Given the description of an element on the screen output the (x, y) to click on. 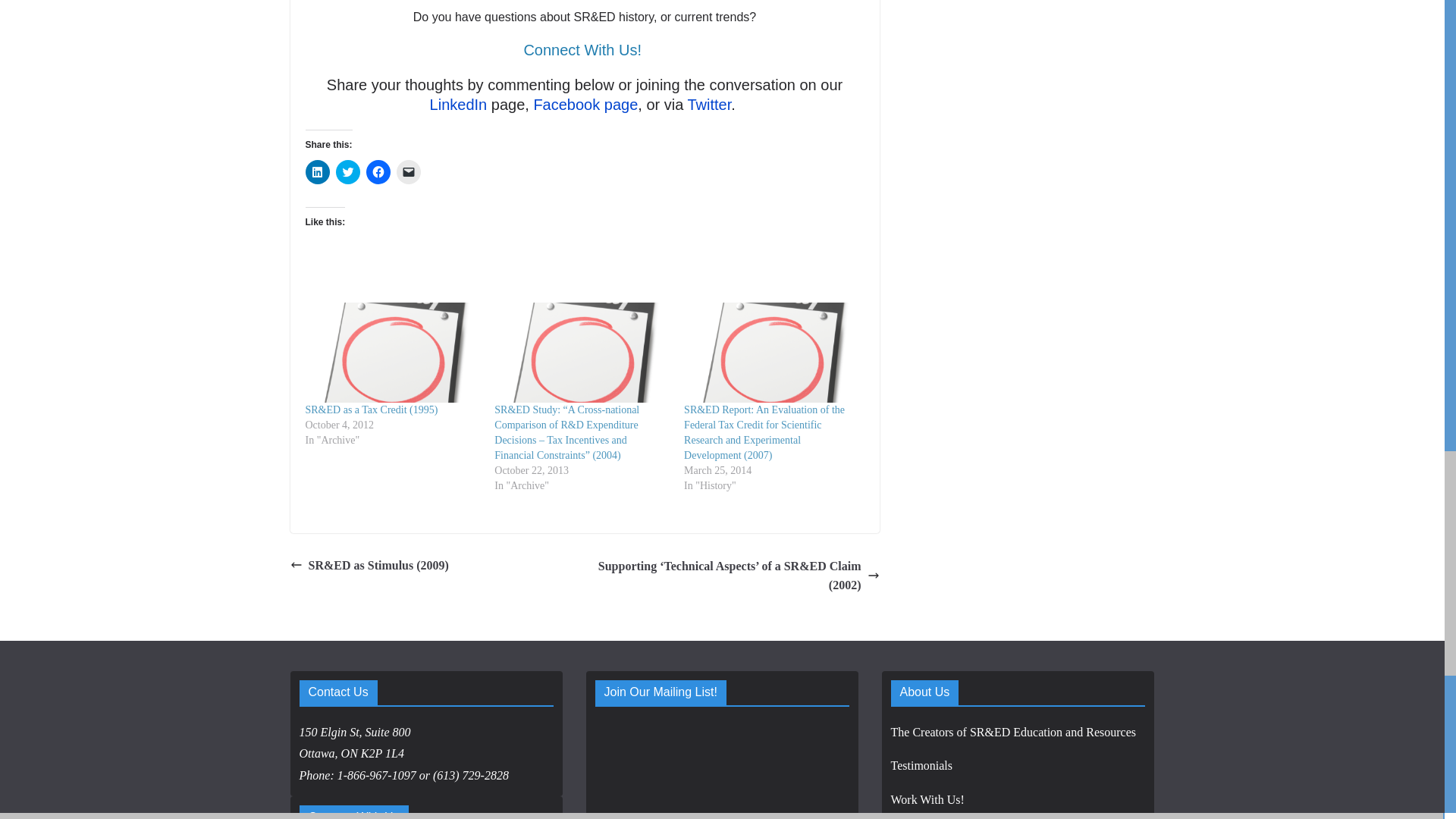
Like or Reblog (583, 257)
Click to share on Twitter (346, 171)
Click to email a link to a friend (408, 171)
Click to share on Facebook (377, 171)
Click to share on LinkedIn (316, 171)
